Given the description of an element on the screen output the (x, y) to click on. 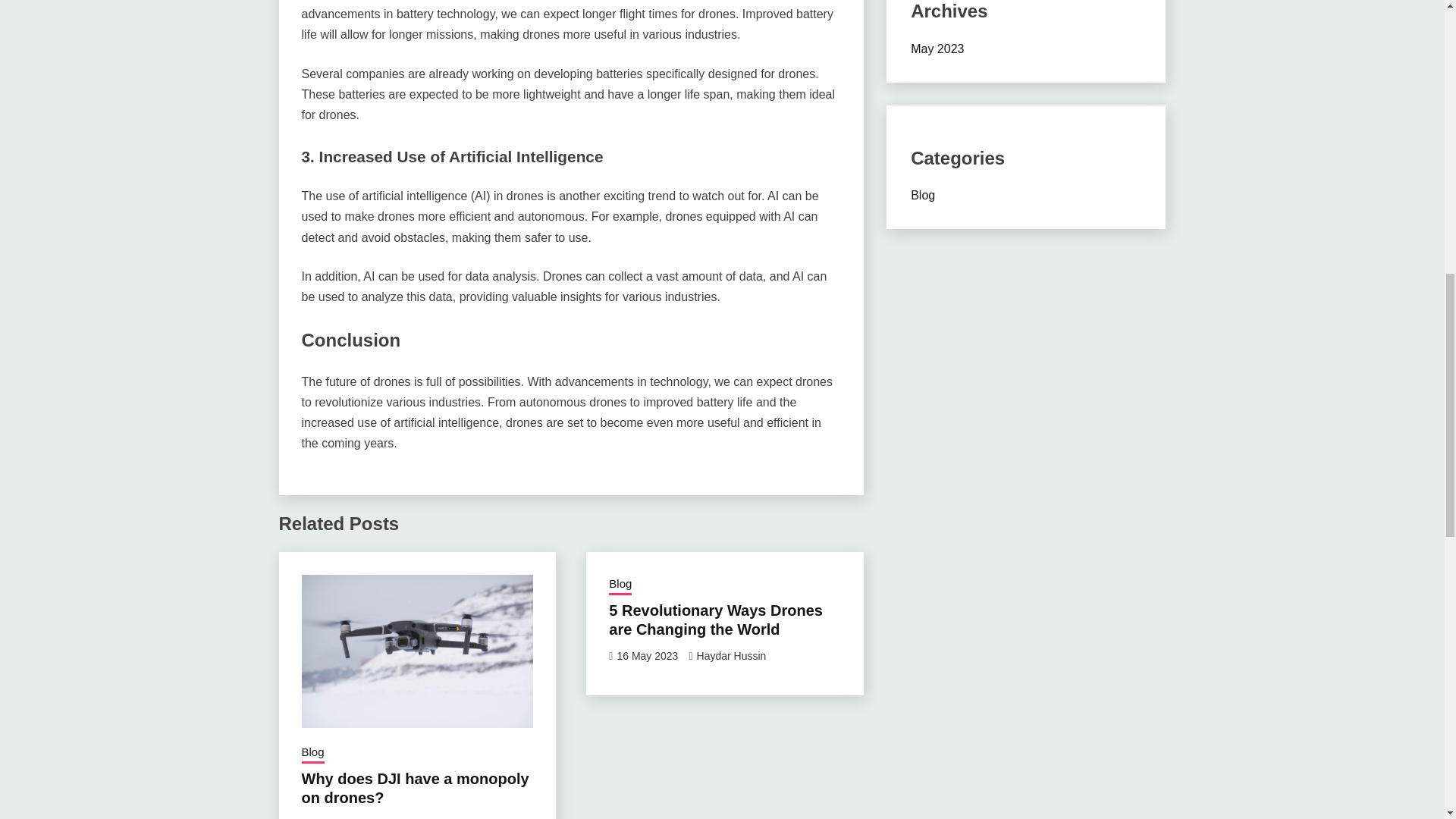
16 May 2023 (646, 655)
Blog (312, 753)
Blog (619, 585)
5 Revolutionary Ways Drones are Changing the World (715, 619)
Why does DJI have a monopoly on drones? (415, 787)
24 May 2023 (339, 818)
Haydar Hussin (732, 655)
Haydar Hussin (423, 818)
